Given the description of an element on the screen output the (x, y) to click on. 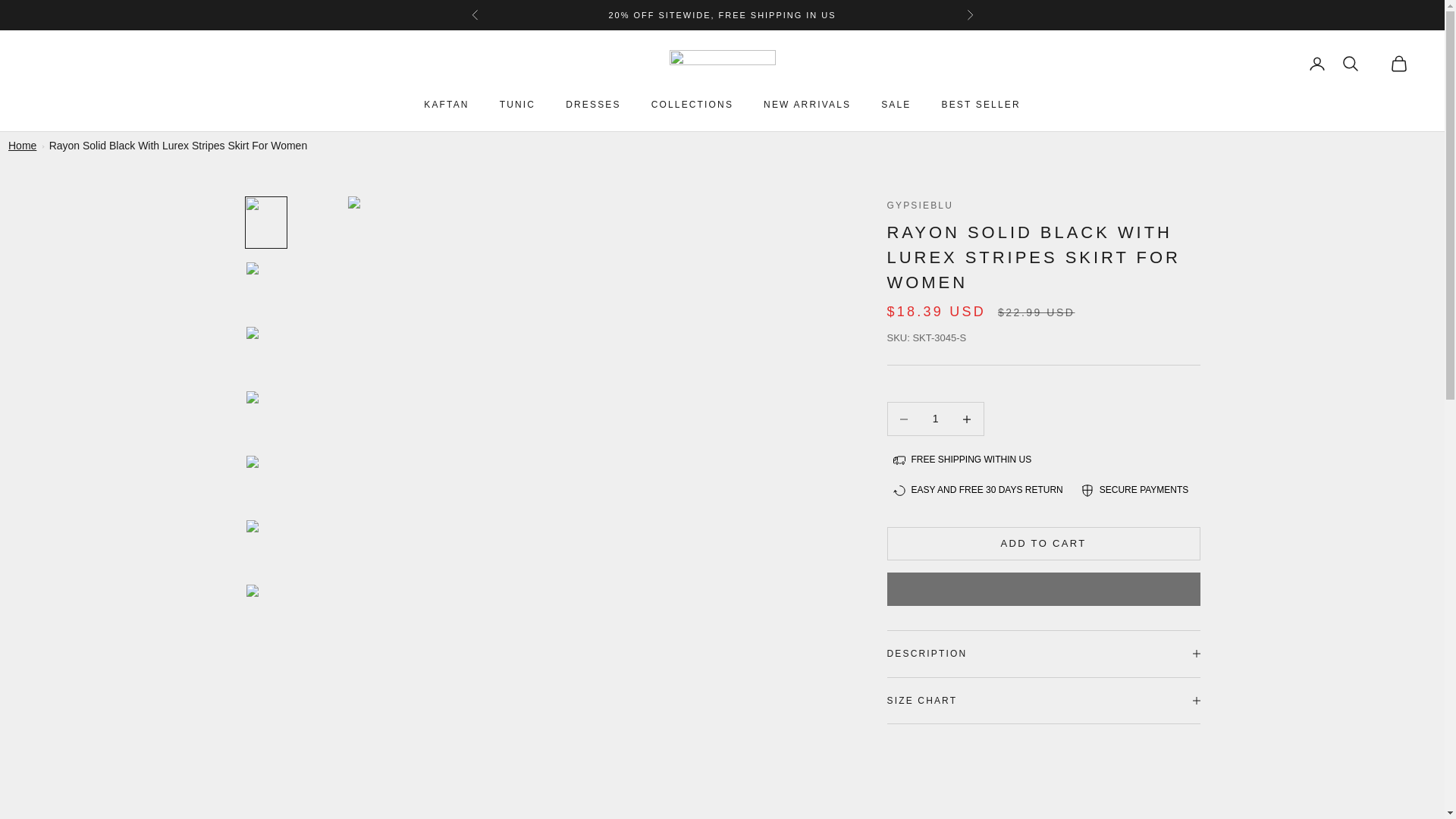
TUNIC (517, 104)
Rayon Solid Black With Lurex Stripes Skirt For Women (178, 145)
Open search (1349, 63)
NEW ARRIVALS (806, 104)
Gypsie blu (721, 63)
SALE (895, 104)
1 (935, 418)
BEST SELLER (980, 104)
Open cart (1398, 63)
Home (22, 145)
